Given the description of an element on the screen output the (x, y) to click on. 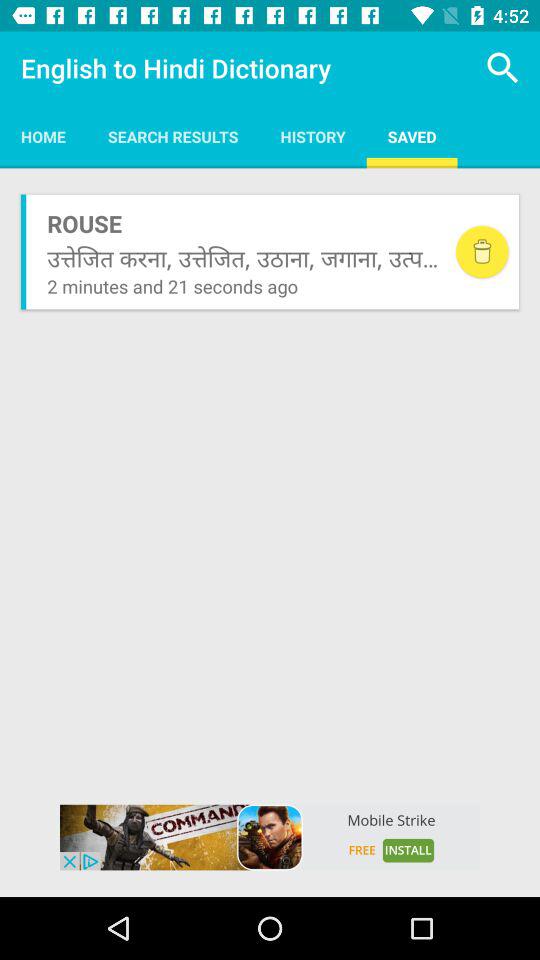
delete (482, 251)
